Given the description of an element on the screen output the (x, y) to click on. 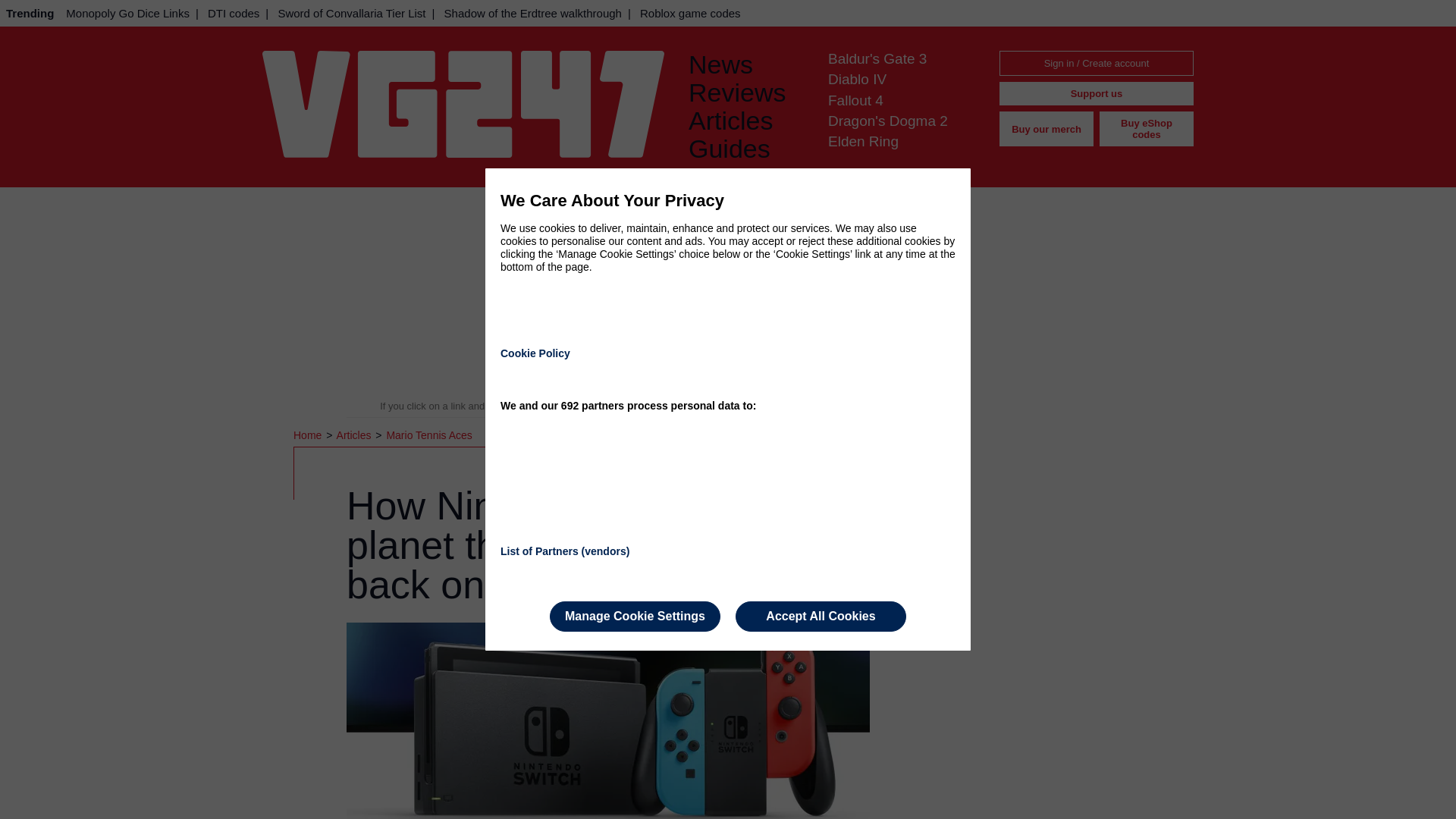
Diablo IV (857, 78)
Articles (355, 435)
DTI codes (233, 13)
Roblox game codes (689, 13)
Buy eShop codes (1146, 128)
Diablo IV (857, 78)
Buy our merch (1045, 128)
Mario Tennis Aces (428, 435)
Read our editorial policy (781, 405)
Sword of Convallaria Tier List (350, 13)
